Given the description of an element on the screen output the (x, y) to click on. 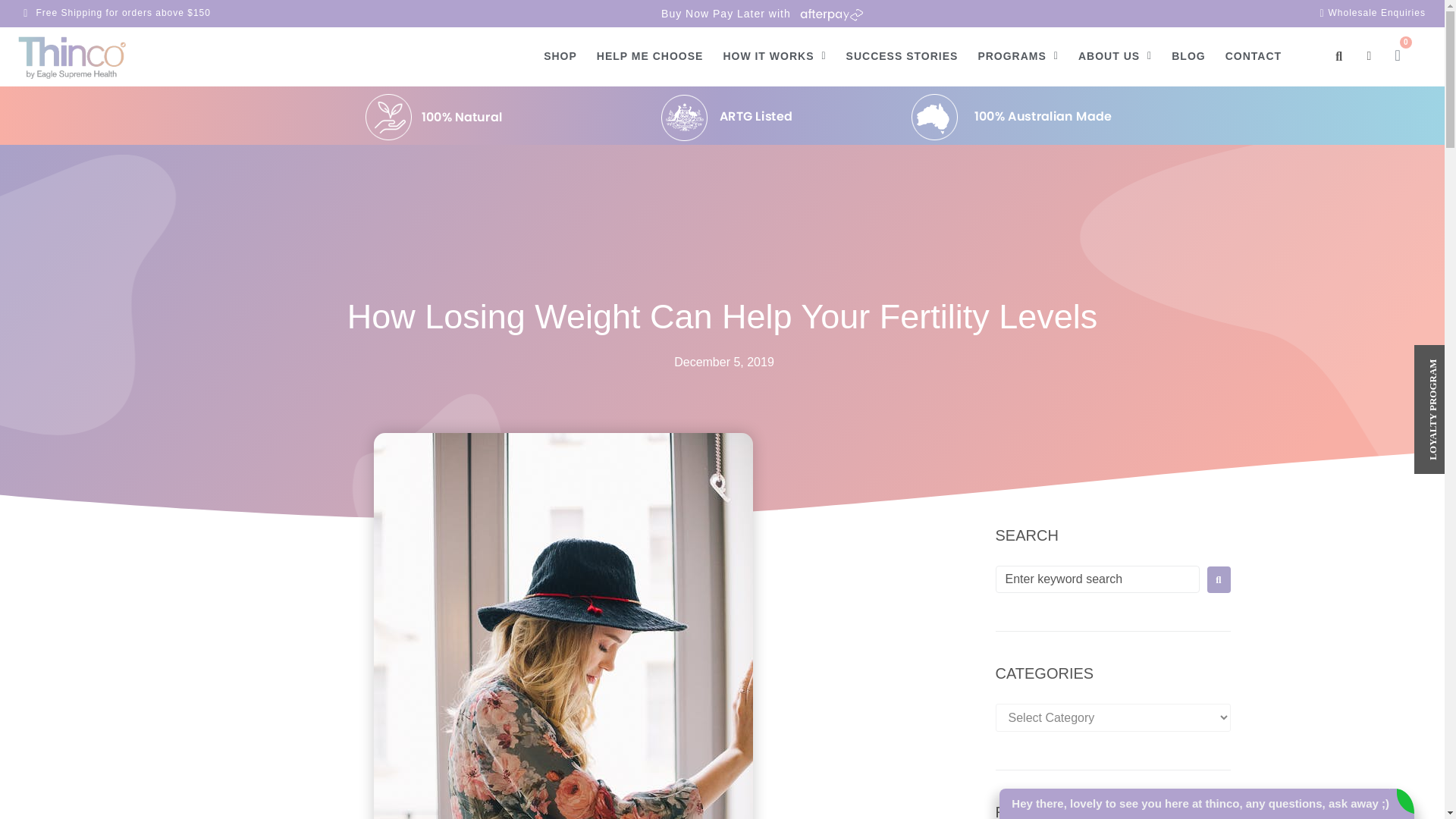
BLOG (1188, 55)
ABOUT US (1114, 55)
PROGRAMS (1017, 55)
Wholesale Enquiries (1291, 12)
SUCCESS STORIES (901, 55)
HOW IT WORKS (773, 55)
SHOP (559, 55)
HELP ME CHOOSE (649, 55)
CONTACT (1253, 55)
